Given the description of an element on the screen output the (x, y) to click on. 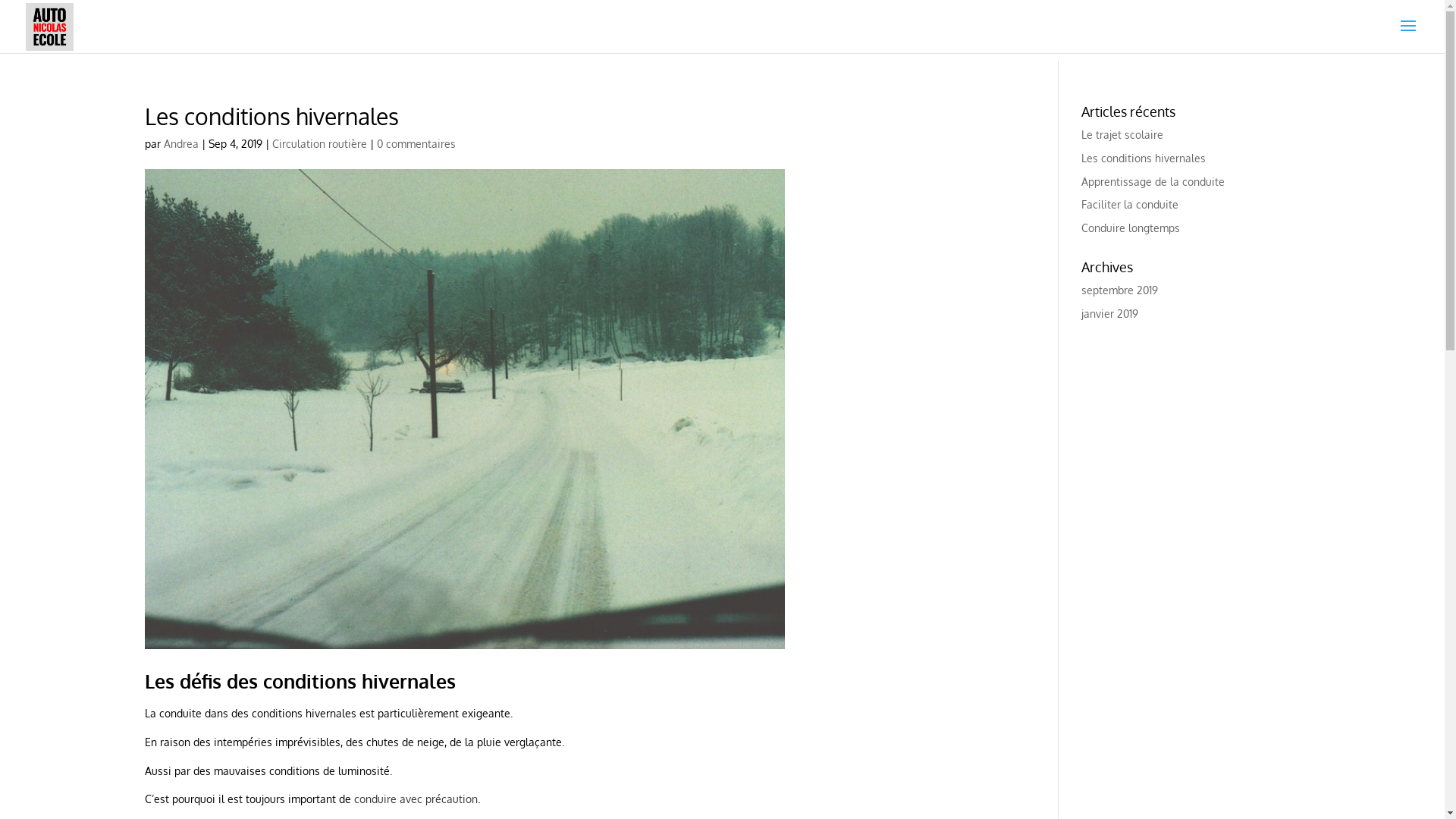
Conduire longtemps Element type: text (1130, 227)
Les conditions hivernales Element type: text (1143, 157)
Le trajet scolaire Element type: text (1122, 134)
janvier 2019 Element type: text (1109, 313)
0 commentaires Element type: text (415, 143)
Faciliter la conduite Element type: text (1129, 203)
septembre 2019 Element type: text (1119, 289)
Apprentissage de la conduite Element type: text (1152, 181)
Andrea Element type: text (180, 143)
